Given the description of an element on the screen output the (x, y) to click on. 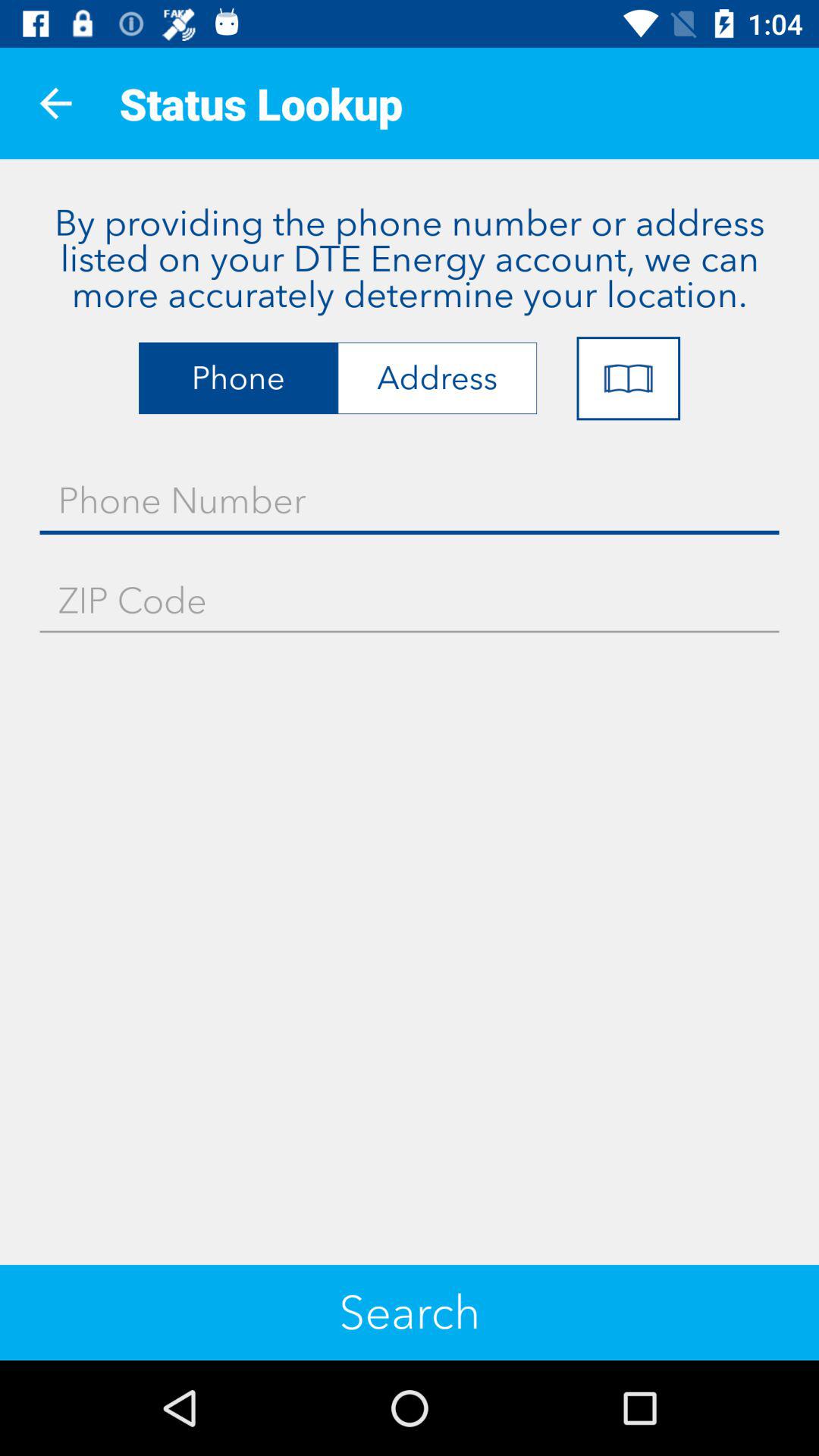
open the item above the by providing the icon (55, 103)
